Given the description of an element on the screen output the (x, y) to click on. 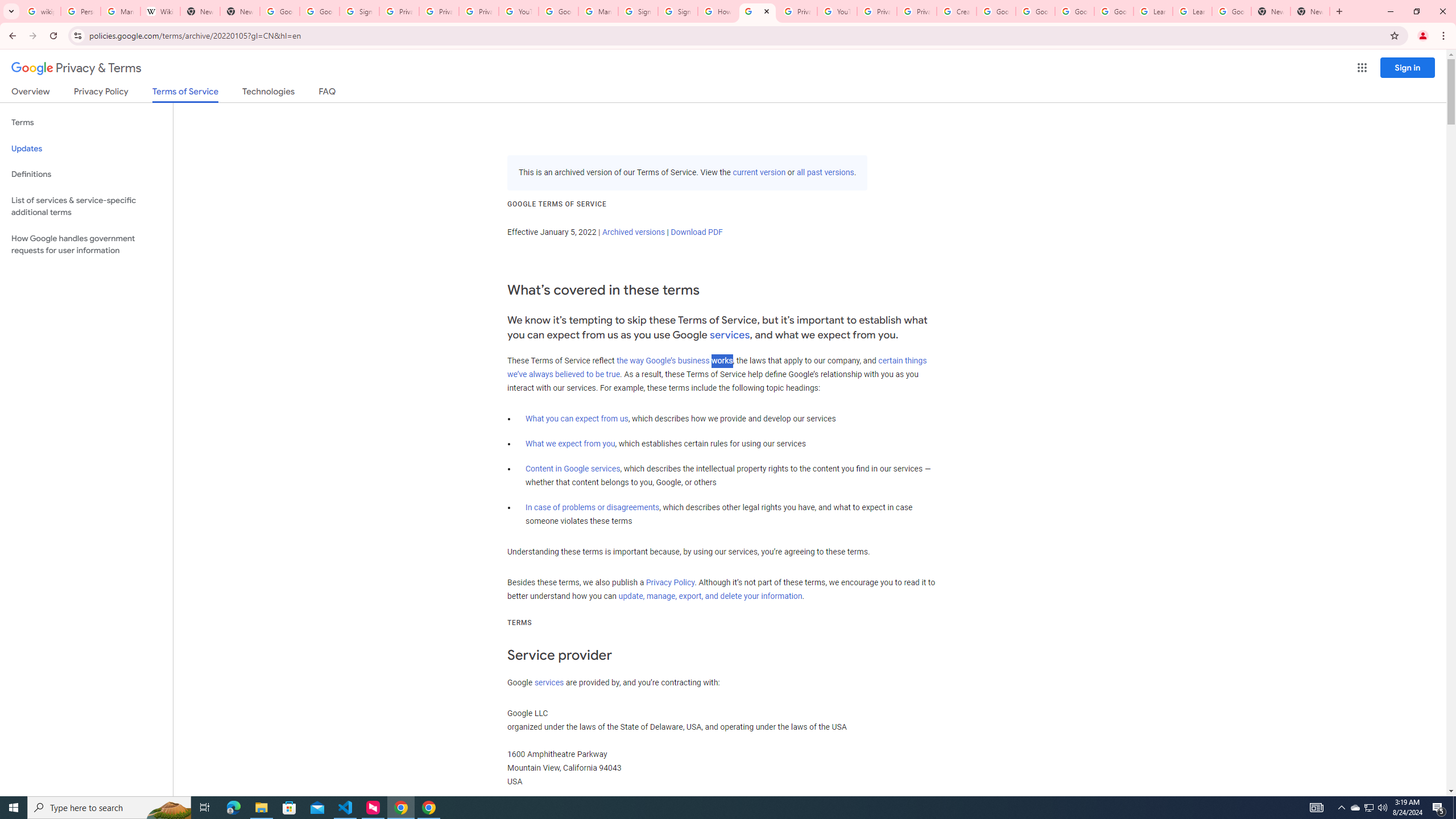
YouTube (518, 11)
Download PDF (696, 231)
Updates (86, 148)
Content in Google services (572, 468)
Google Account Help (1113, 11)
Wikipedia:Edit requests - Wikipedia (159, 11)
all past versions (825, 172)
What we expect from you (570, 443)
